Given the description of an element on the screen output the (x, y) to click on. 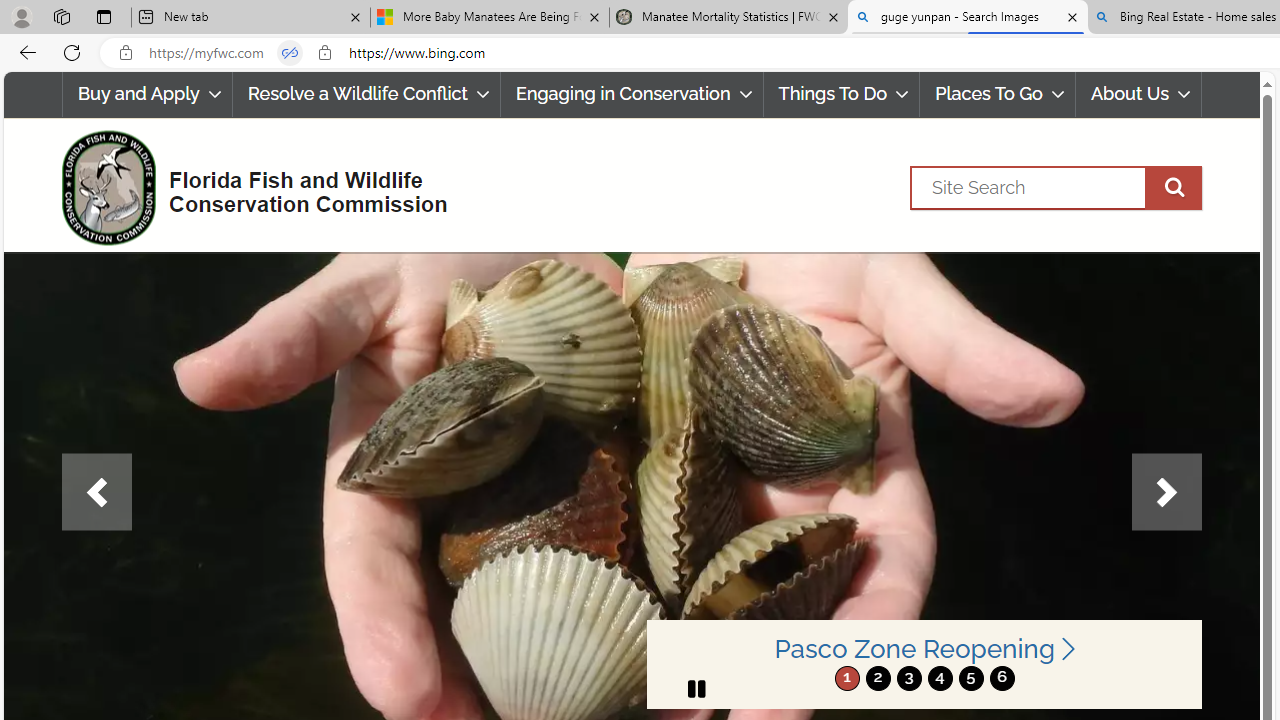
Next (1166, 491)
move to slide 6 (1002, 678)
About Us (1139, 94)
Places To Go (997, 94)
Things To Do (841, 94)
move to slide 4 (939, 678)
Places To Go (998, 94)
Resolve a Wildlife Conflict (365, 94)
Things To Do (841, 94)
FWC Logo Florida Fish and Wildlife Conservation Commission (246, 185)
